Given the description of an element on the screen output the (x, y) to click on. 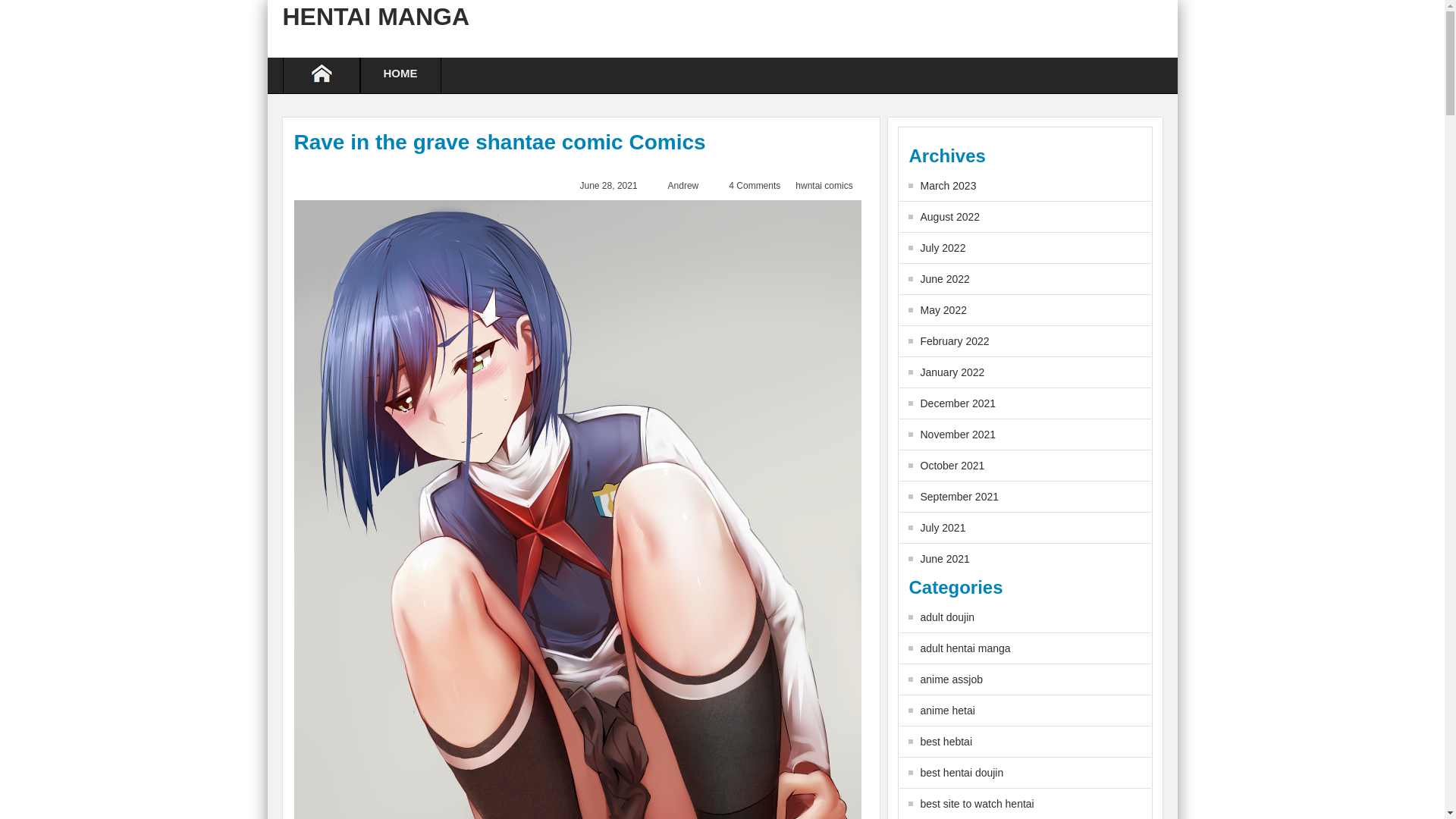
HOME (401, 75)
best hebtai (940, 741)
June 2022 (938, 278)
July 2022 (937, 247)
May 2022 (937, 309)
November 2021 (951, 434)
March 2023 (942, 185)
adult hentai manga (959, 648)
June 2021 (938, 558)
December 2021 (951, 403)
